Given the description of an element on the screen output the (x, y) to click on. 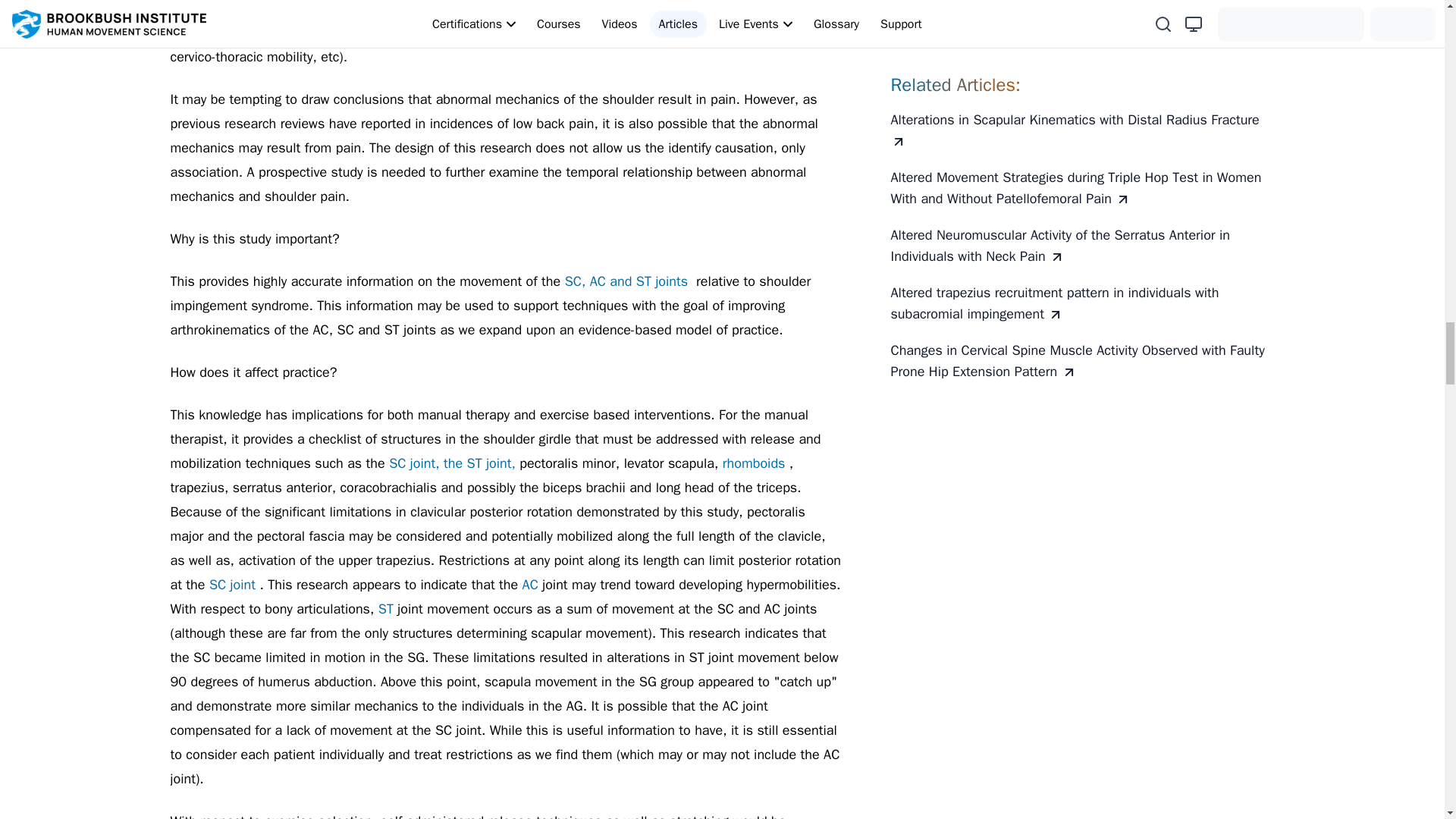
ST (387, 608)
SC joint, the ST joint, (453, 463)
rhomboids (755, 463)
SC joint (234, 584)
AC (532, 584)
SC, AC and ST joints (628, 280)
